Given the description of an element on the screen output the (x, y) to click on. 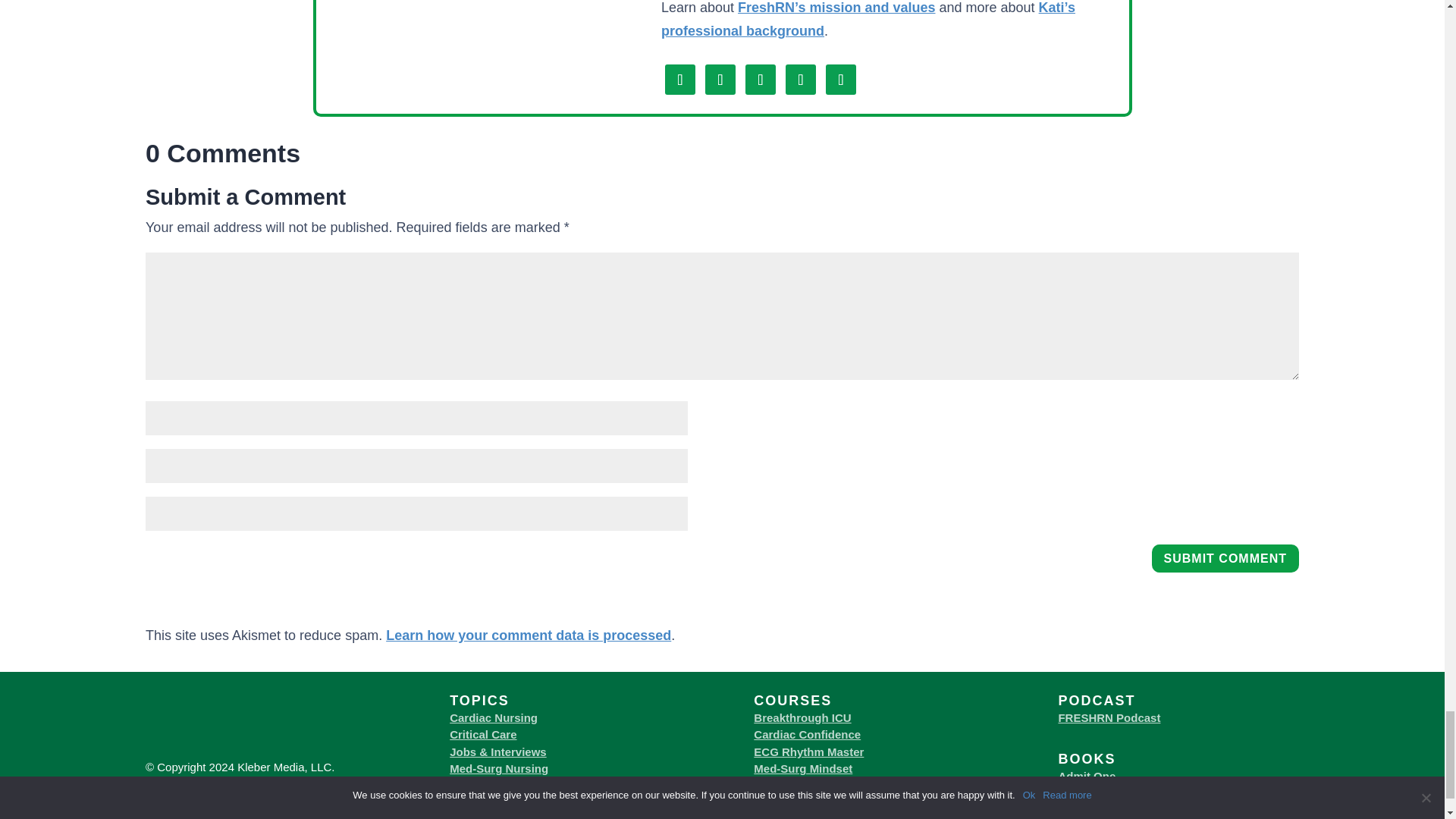
Follow on TikTok (800, 79)
Follow on Pinterest (840, 79)
Follow on Youtube (760, 79)
Follow on Facebook (680, 79)
FRESHRN Logo White (250, 751)
Follow on Instagram (719, 79)
Kati Kleber, MSN, RN (502, 76)
